Given the description of an element on the screen output the (x, y) to click on. 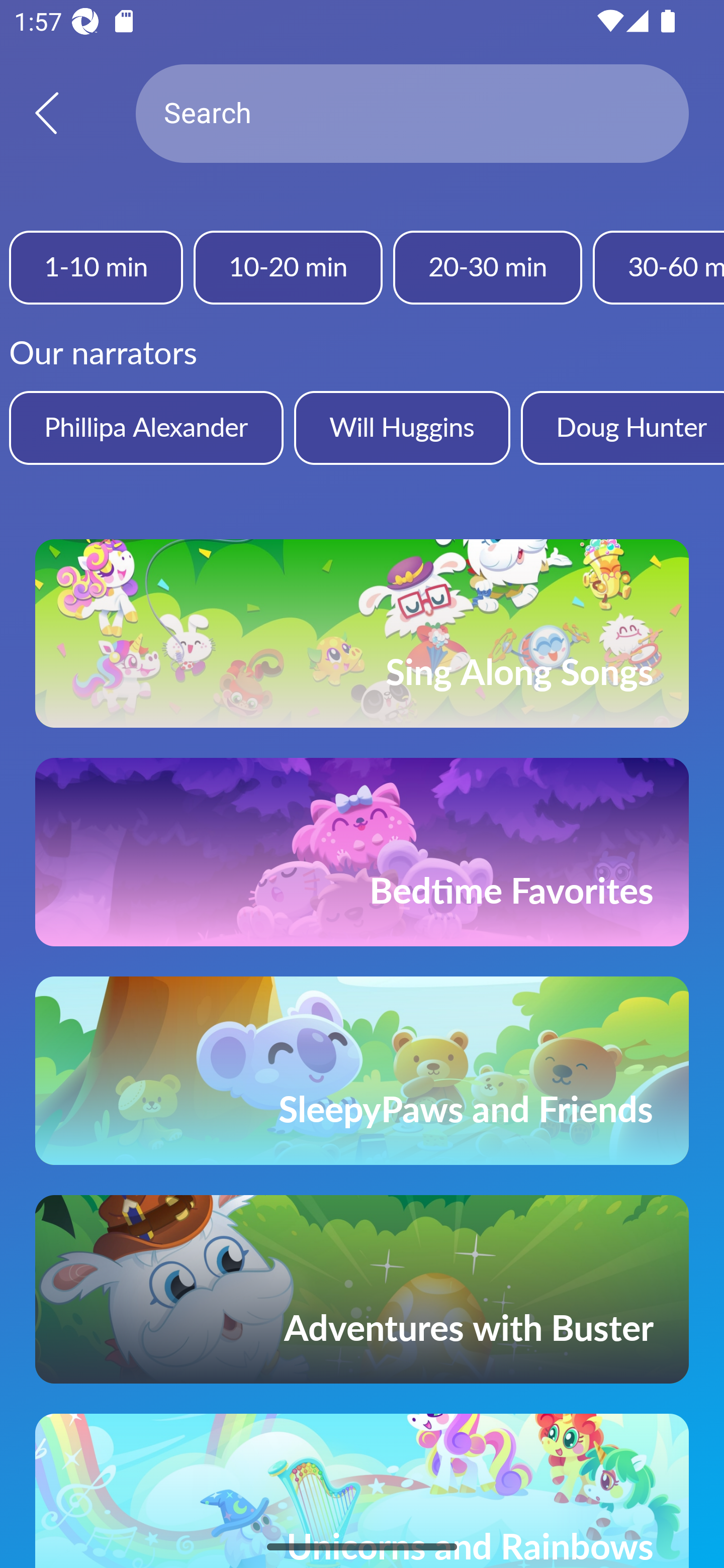
Search (412, 113)
1-10 min (95, 267)
10-20 min (287, 267)
20-30 min (487, 267)
30-60 min (658, 267)
Phillipa Alexander (145, 427)
Will Huggins (401, 427)
Doug Hunter (622, 427)
Sing Along Songs (361, 633)
Bedtime Favorites (361, 852)
SleepyPaws and Friends (361, 1070)
Adventures with Buster (361, 1288)
Unicorns and Rainbows (361, 1491)
